Given the description of an element on the screen output the (x, y) to click on. 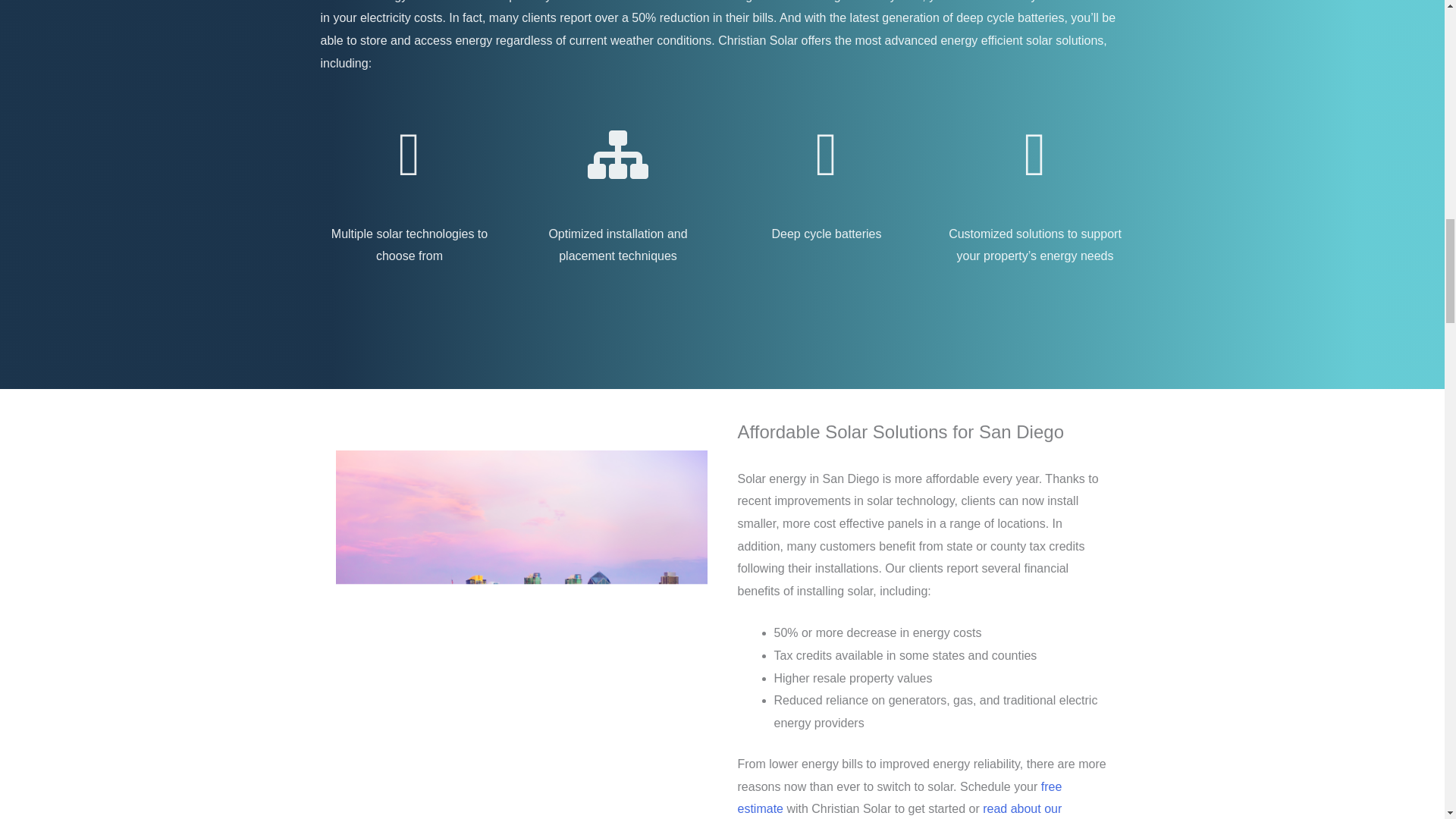
read about our Financing Options (898, 810)
san diego (520, 574)
free estimate (898, 797)
